Given the description of an element on the screen output the (x, y) to click on. 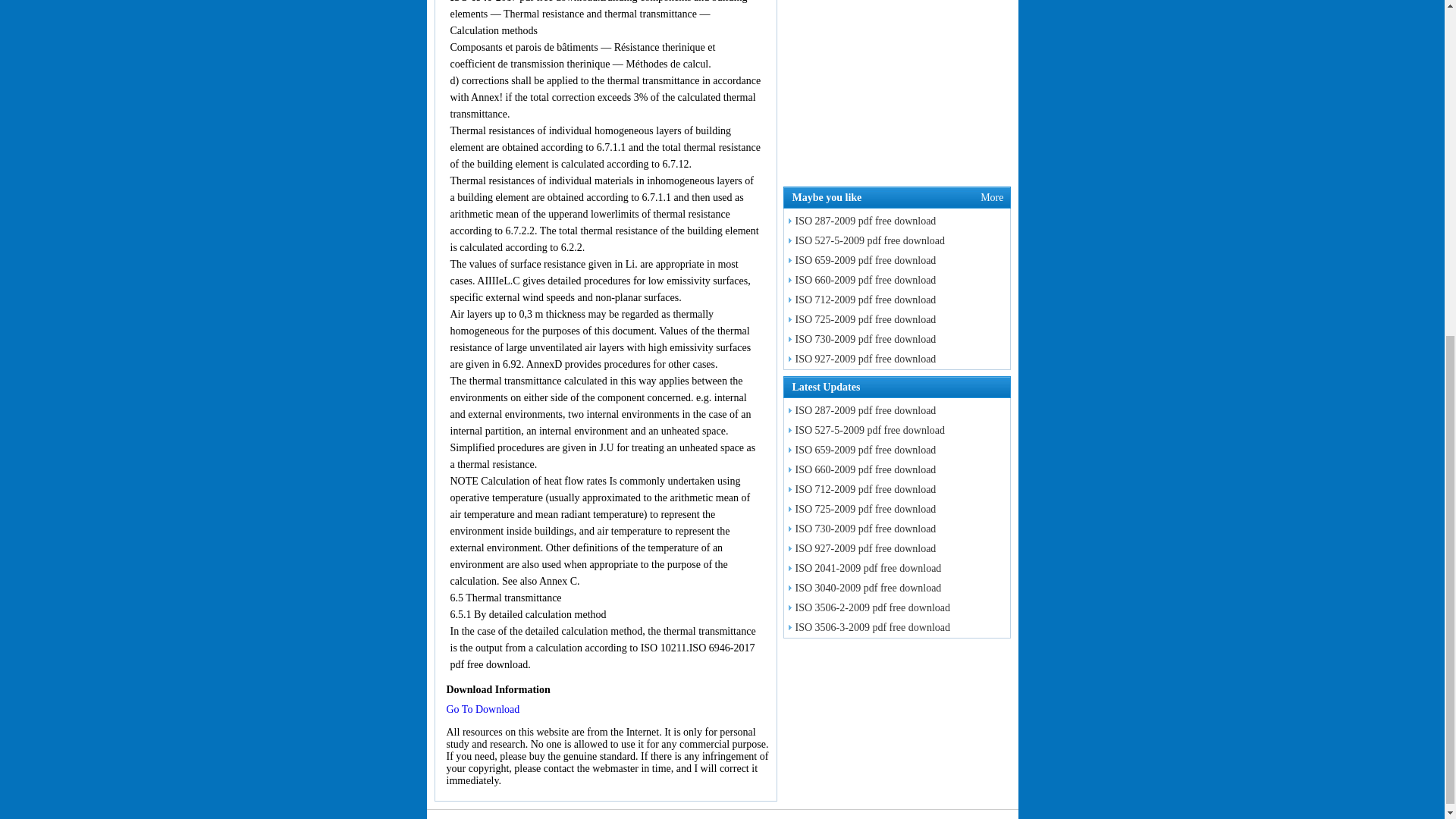
ISO 3506-3-2009 pdf free download (867, 627)
ISO 730-2009 pdf free download (860, 528)
ISO 2041-2009 pdf free download (863, 568)
ISO 725-2009 pdf free download (860, 319)
ISO 659-2009 pdf free download (860, 449)
ISO 725-2009 pdf free download (860, 509)
ISO 287-2009 pdf free download (860, 220)
ISO 927-2009 pdf free download (860, 548)
ISO 927-2009 pdf free download (860, 358)
ISO 712-2009 pdf free download (860, 489)
ISO 3040-2009 pdf free download (863, 587)
ISO 712-2009 pdf free download (860, 299)
ISO 287-2009 pdf free download (860, 410)
Go To Download (482, 708)
ISO 660-2009 pdf free download (860, 279)
